Given the description of an element on the screen output the (x, y) to click on. 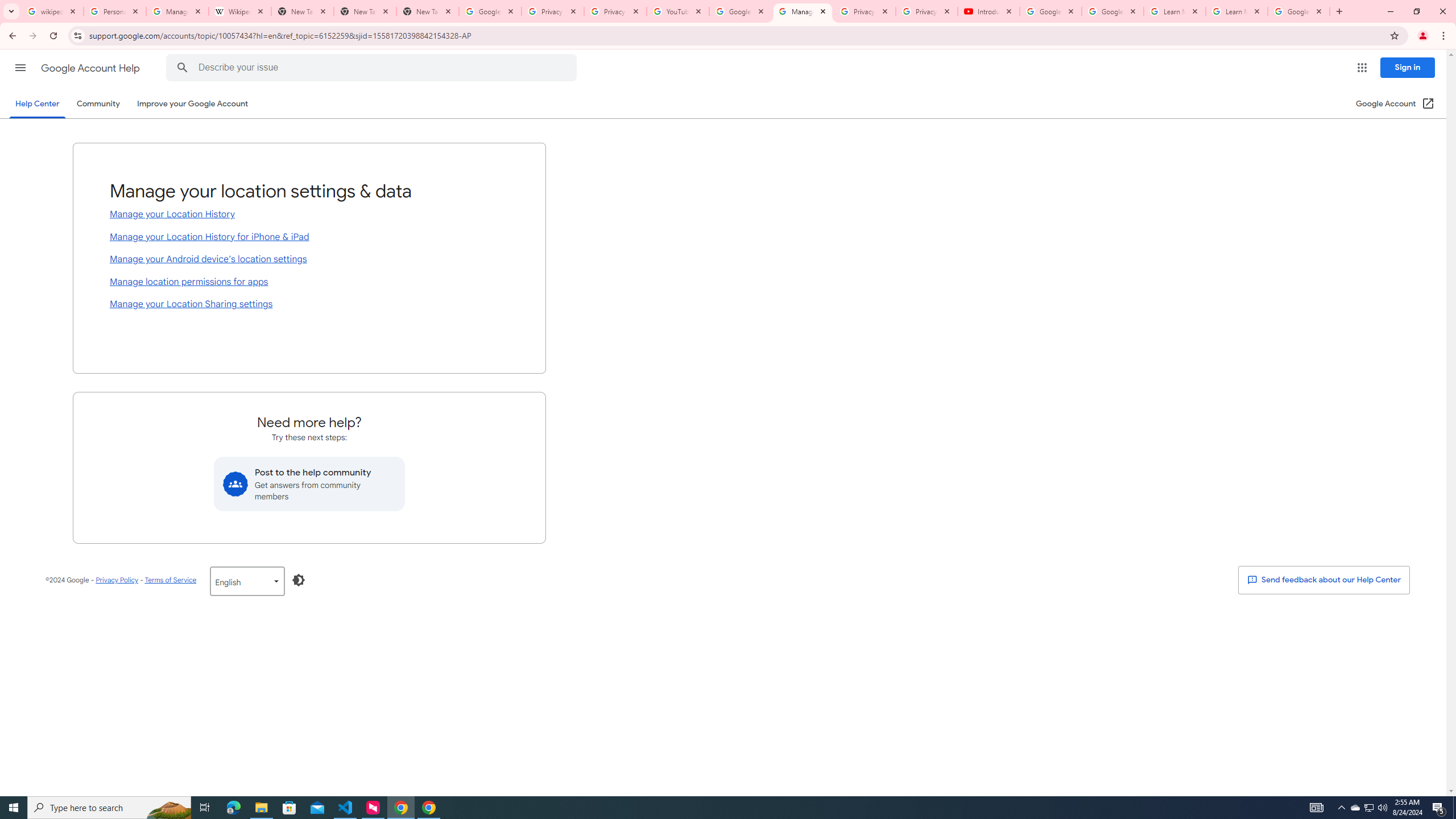
Help Center (36, 103)
New Tab (427, 11)
Manage your Location Sharing settings (309, 304)
New Tab (365, 11)
Manage your Location History - Google Search Help (177, 11)
Wikipedia:Edit requests - Wikipedia (239, 11)
Google Account Help (91, 68)
